Given the description of an element on the screen output the (x, y) to click on. 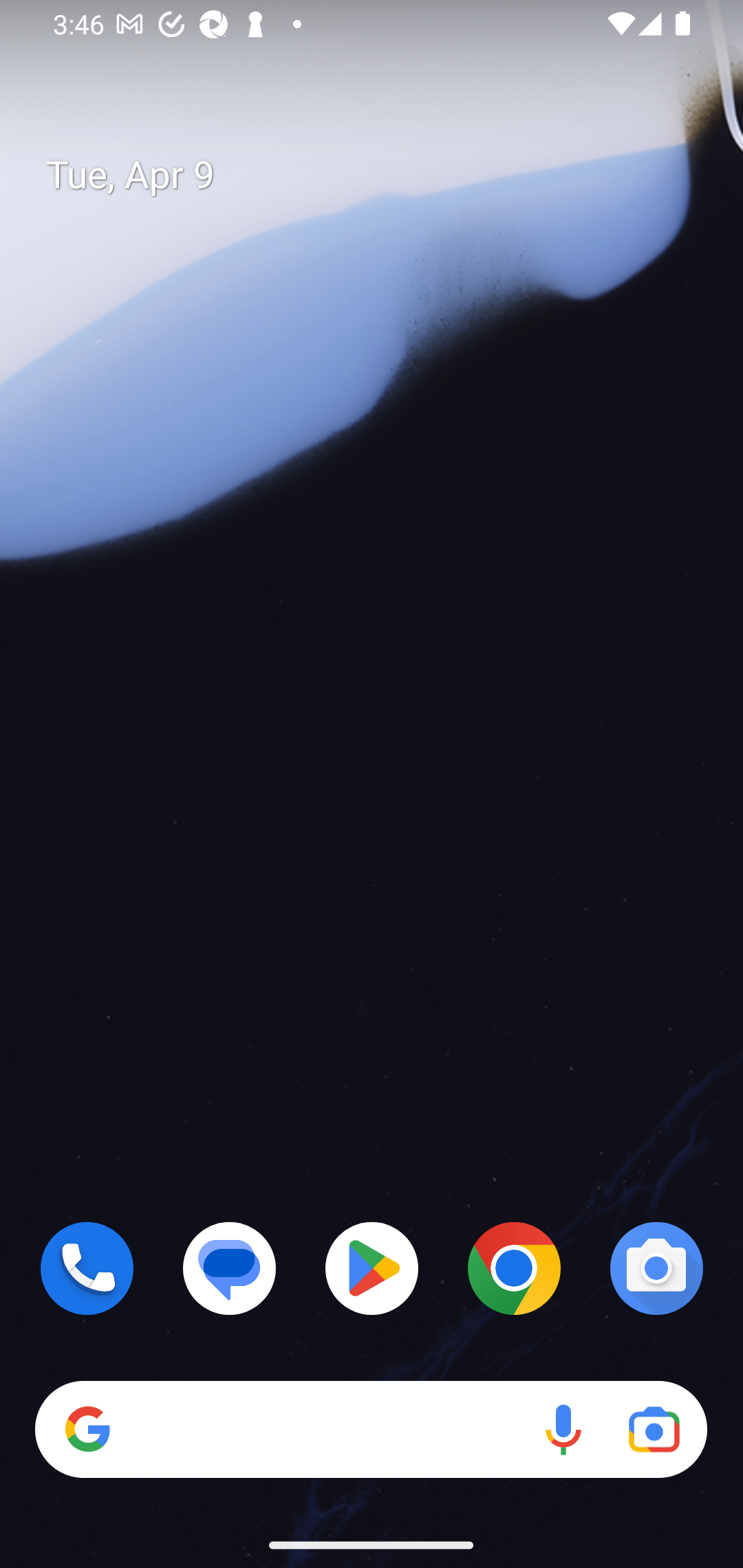
Tue, Apr 9 (386, 175)
Phone (86, 1268)
Messages (229, 1268)
Play Store (371, 1268)
Chrome (513, 1268)
Camera (656, 1268)
Search Voice search Google Lens (370, 1429)
Voice search (562, 1429)
Google Lens (653, 1429)
